Given the description of an element on the screen output the (x, y) to click on. 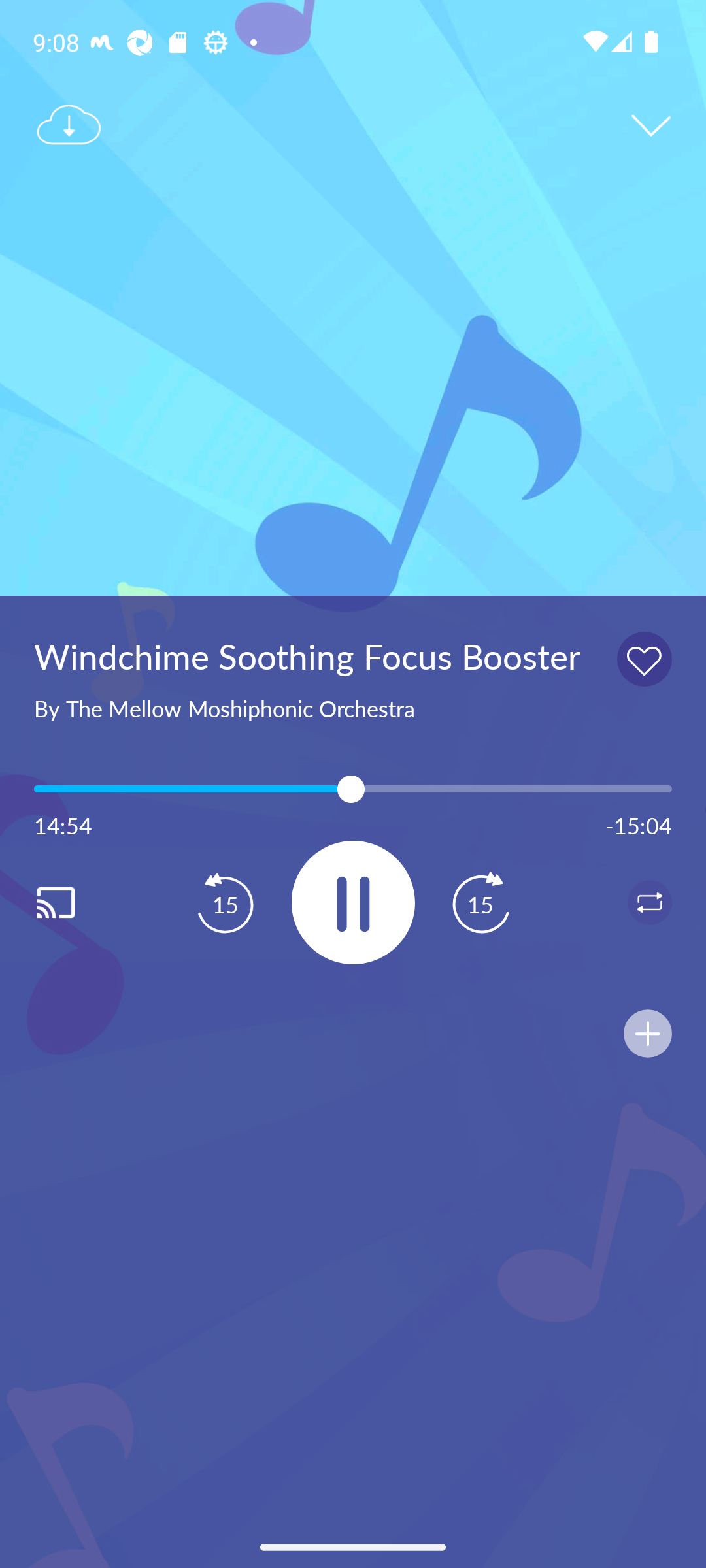
893.0 (352, 789)
Cast. Disconnected (76, 902)
